Given the description of an element on the screen output the (x, y) to click on. 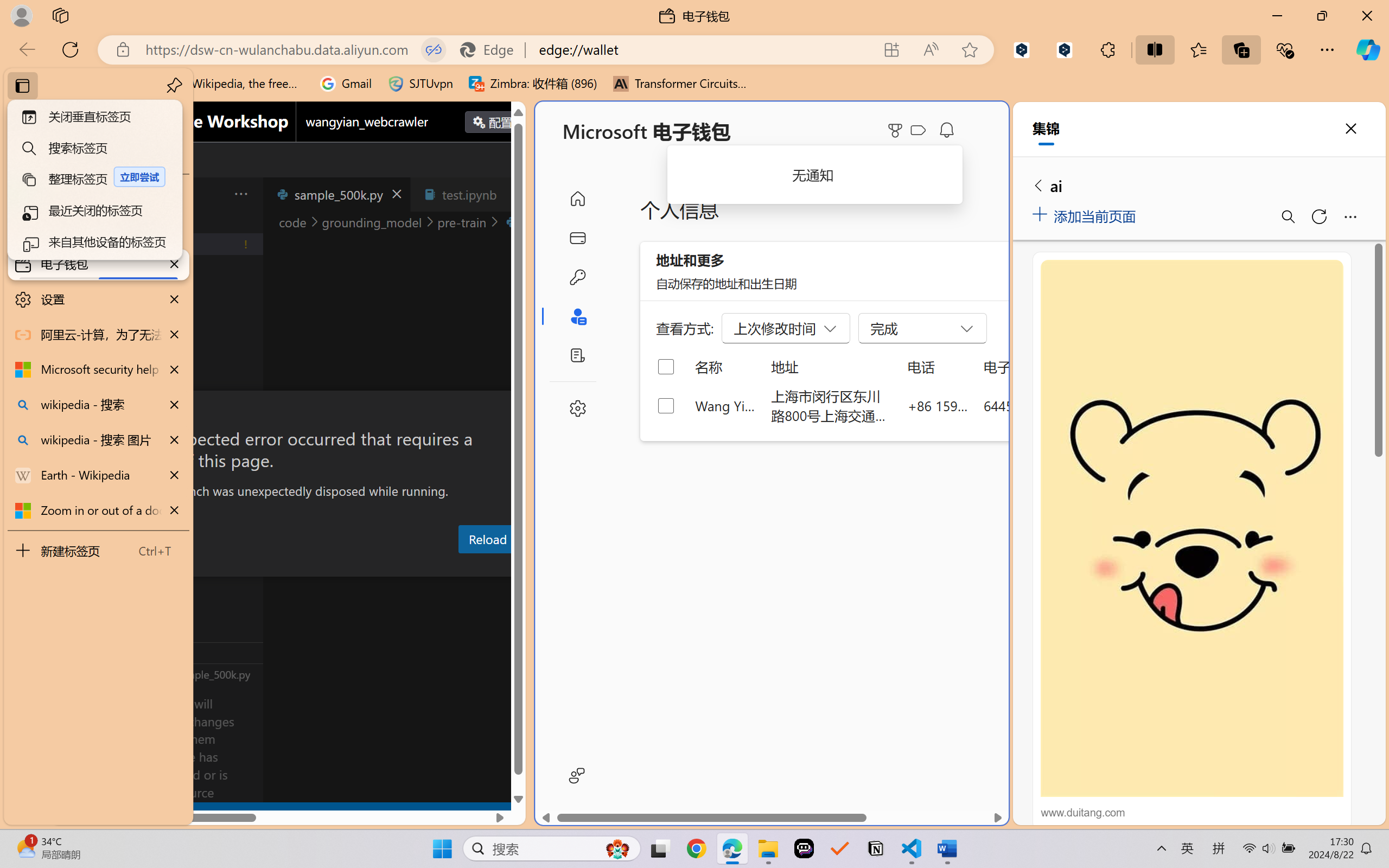
Microsoft security help and learning (97, 369)
Copilot (Ctrl+Shift+.) (1368, 49)
Explorer Section: wangyian (179, 221)
Search (Ctrl+Shift+F) (73, 281)
